Given the description of an element on the screen output the (x, y) to click on. 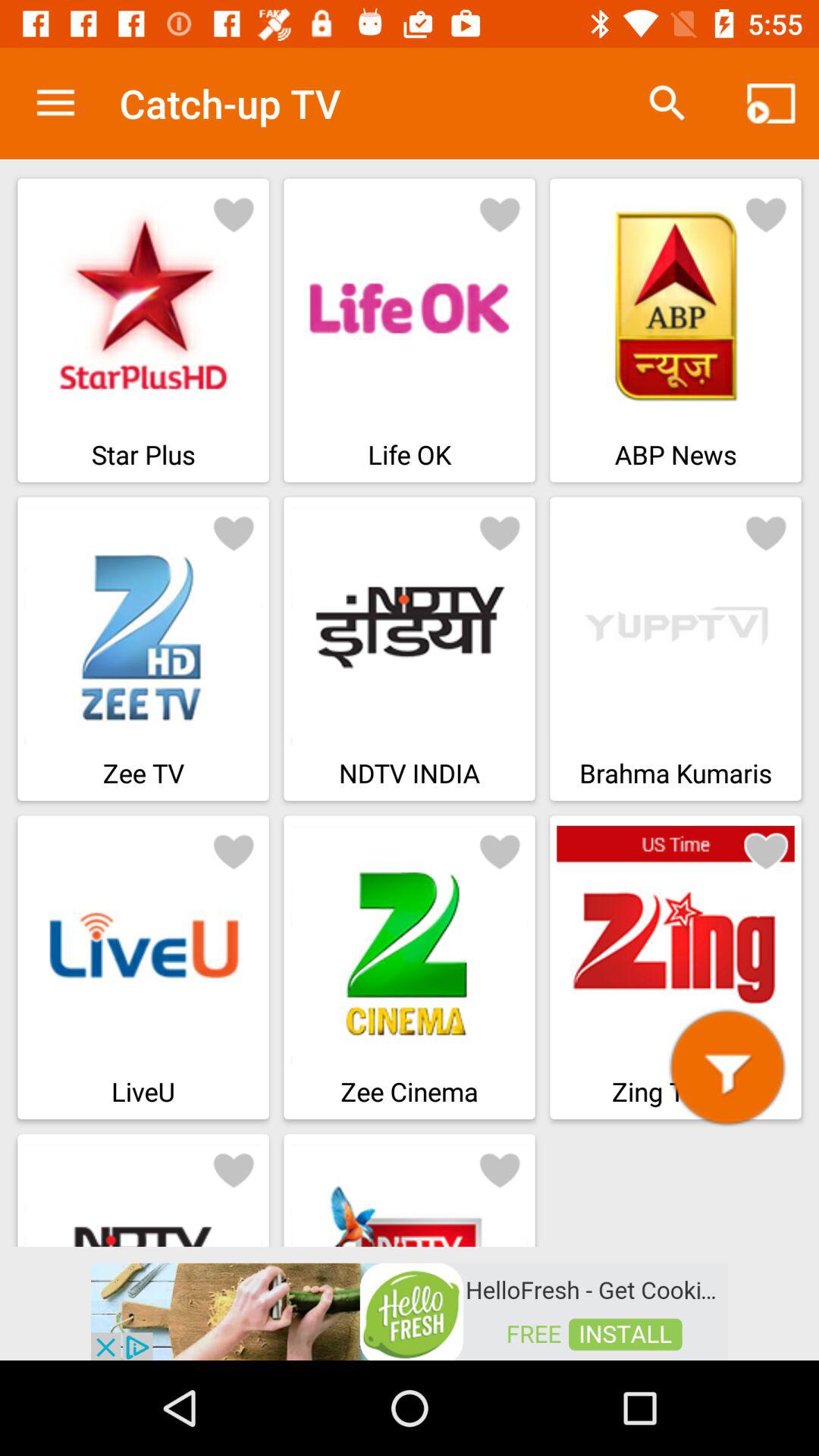
heart symbol (766, 850)
